Given the description of an element on the screen output the (x, y) to click on. 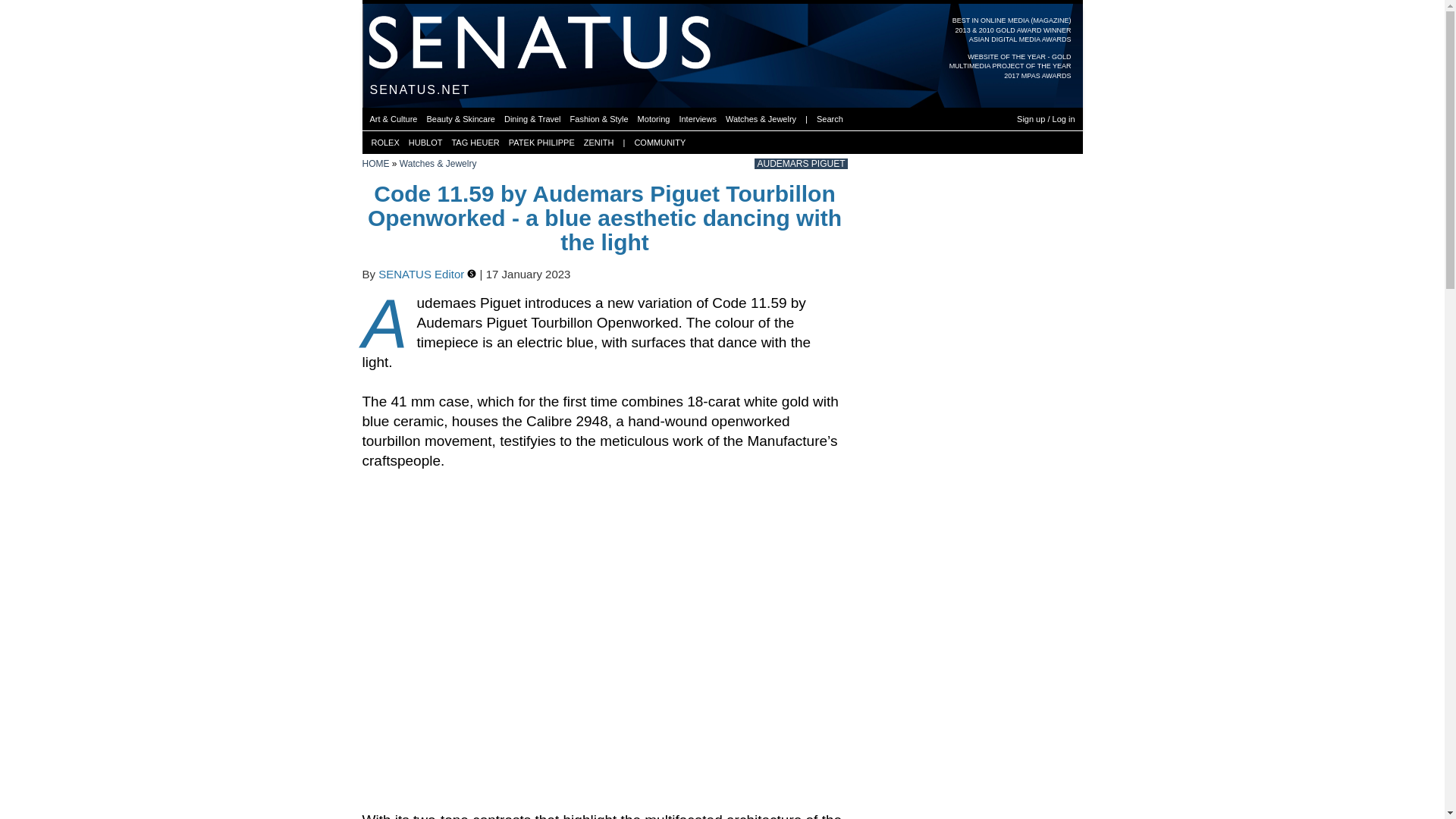
SENATUS.NET (419, 90)
Interviews (697, 118)
COMMUNITY (659, 142)
ROLEX (385, 142)
Search (829, 118)
PATEK PHILIPPE (541, 142)
Motoring (653, 118)
HOME (376, 163)
HUBLOT (425, 142)
ZENITH (598, 142)
SENATUS.NET (419, 89)
TAG HEUER (475, 142)
